Given the description of an element on the screen output the (x, y) to click on. 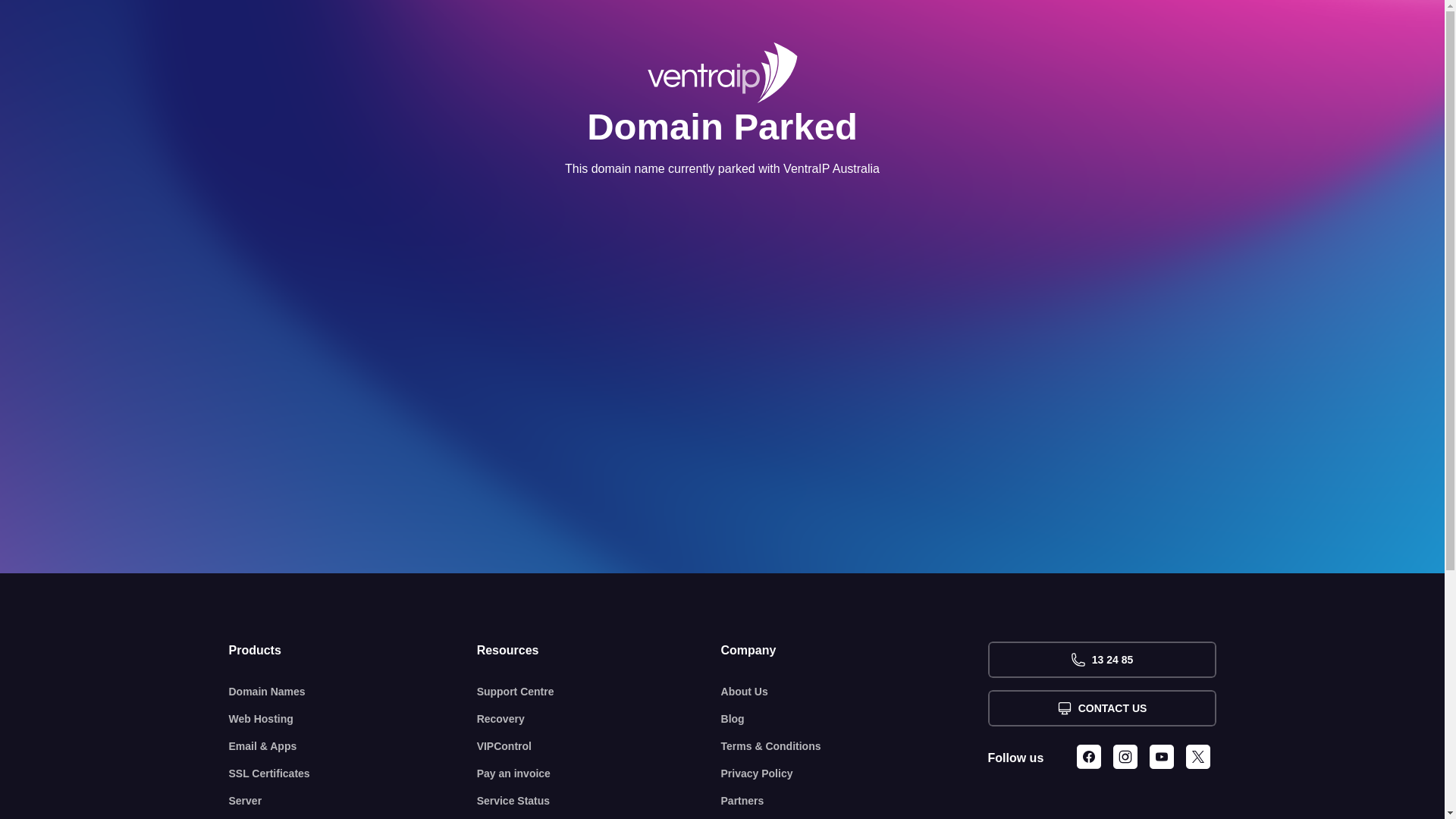
13 24 85 Element type: text (1101, 659)
Partners Element type: text (854, 800)
Recovery Element type: text (598, 718)
Web Hosting Element type: text (352, 718)
Terms & Conditions Element type: text (854, 745)
Email & Apps Element type: text (352, 745)
Blog Element type: text (854, 718)
SSL Certificates Element type: text (352, 773)
VIPControl Element type: text (598, 745)
About Us Element type: text (854, 691)
Server Element type: text (352, 800)
Support Centre Element type: text (598, 691)
Privacy Policy Element type: text (854, 773)
Service Status Element type: text (598, 800)
Pay an invoice Element type: text (598, 773)
Domain Names Element type: text (352, 691)
CONTACT US Element type: text (1101, 708)
